Given the description of an element on the screen output the (x, y) to click on. 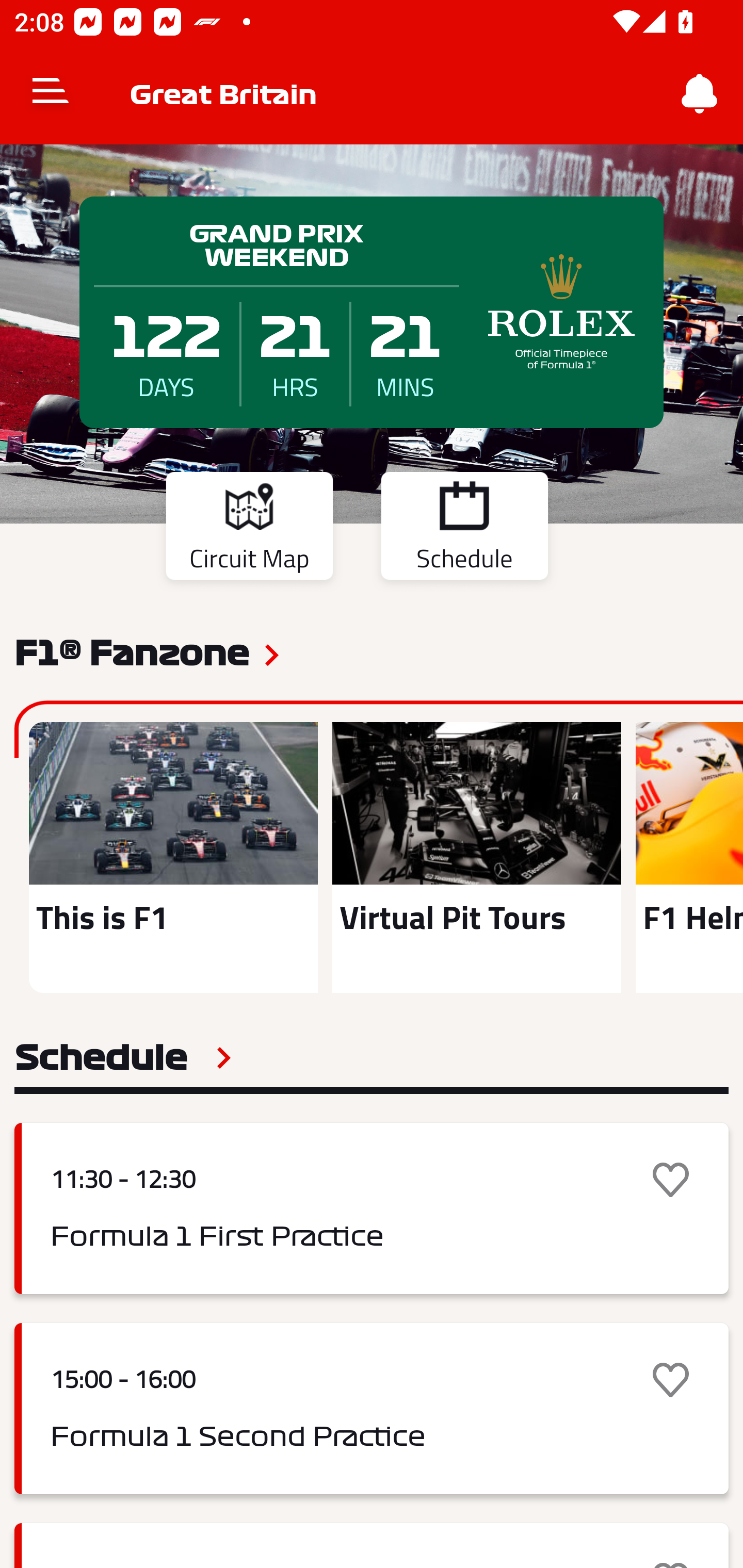
Navigate up (50, 93)
Notifications (699, 93)
Circuit Map (249, 528)
Schedule (464, 528)
F1® Fanzone (131, 651)
This is F1 (173, 857)
Virtual Pit Tours (476, 857)
Schedule (122, 1057)
11:30 - 12:30 Formula 1 First Practice (371, 1207)
15:00 - 16:00 Formula 1 Second Practice (371, 1408)
